Given the description of an element on the screen output the (x, y) to click on. 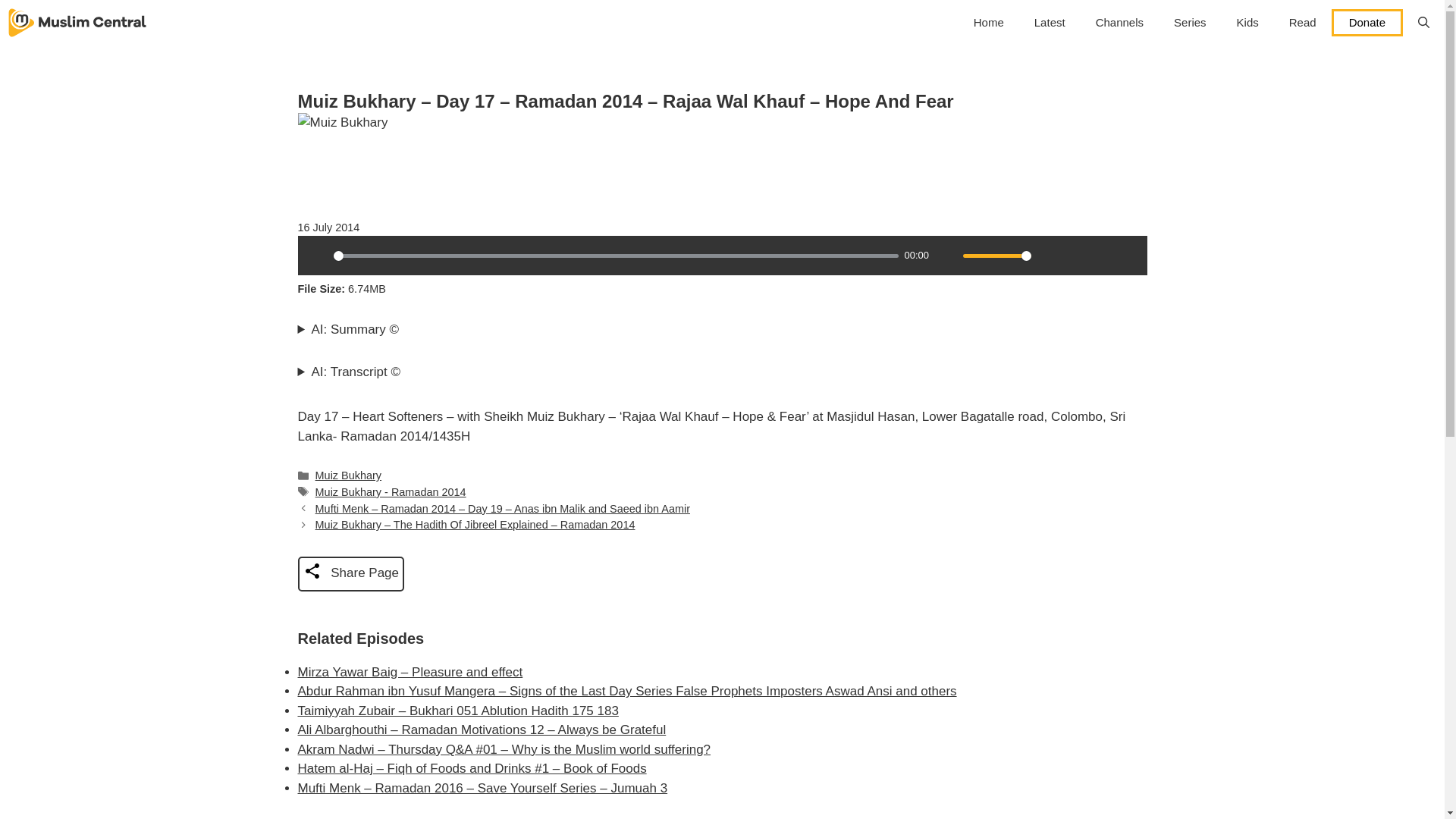
Donate (1367, 22)
Muiz Bukhary (348, 475)
Kids (1247, 22)
1 (996, 255)
Muslim Central (77, 22)
0 (615, 255)
Rewind 10s (1101, 255)
Muiz Bukhary - Ramadan 2014 (390, 491)
Latest (1049, 22)
Play (316, 255)
Series (1189, 22)
Download (1074, 255)
Home (988, 22)
Read (1303, 22)
Settings (1048, 255)
